Given the description of an element on the screen output the (x, y) to click on. 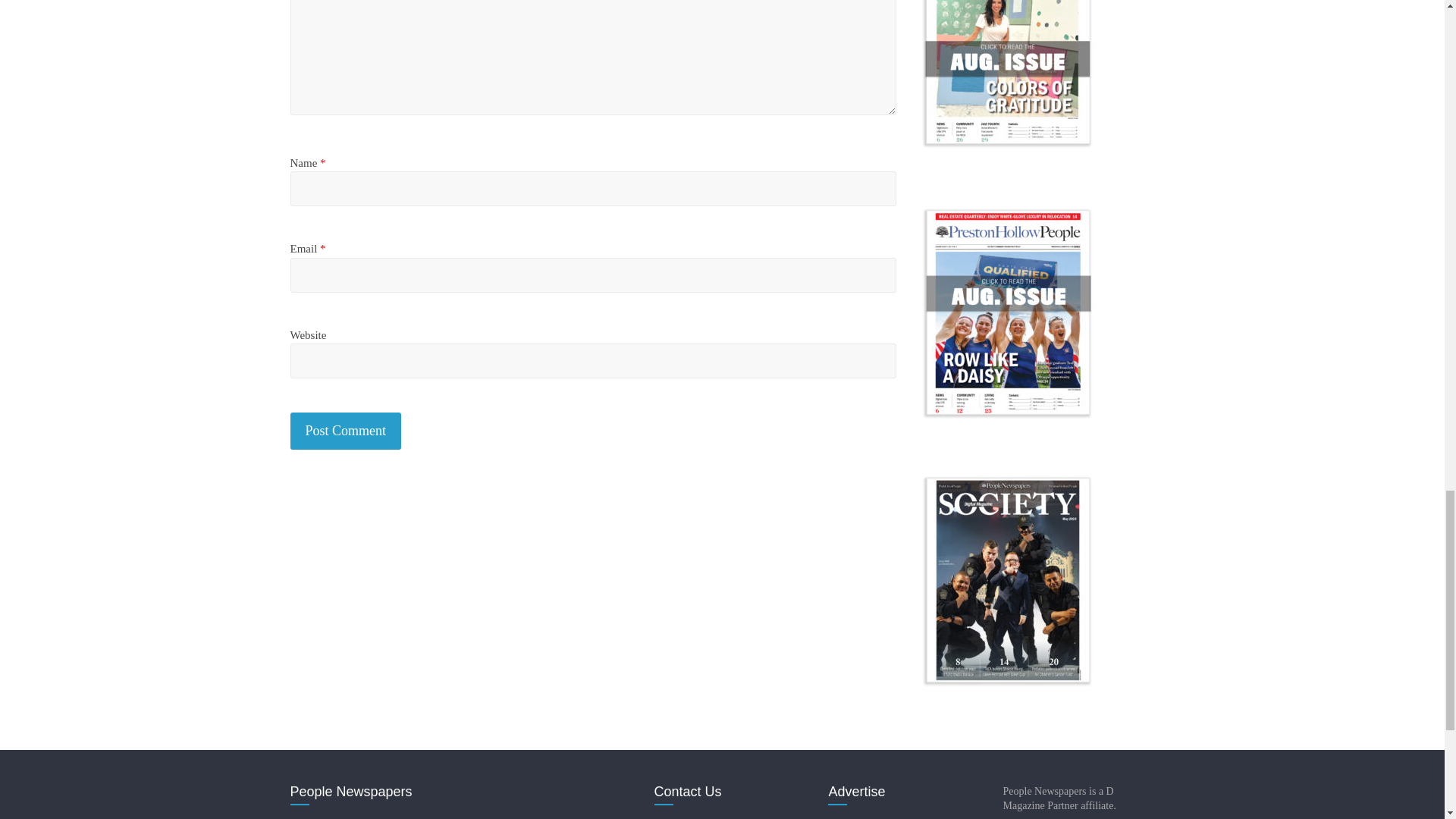
Post Comment (345, 430)
